Given the description of an element on the screen output the (x, y) to click on. 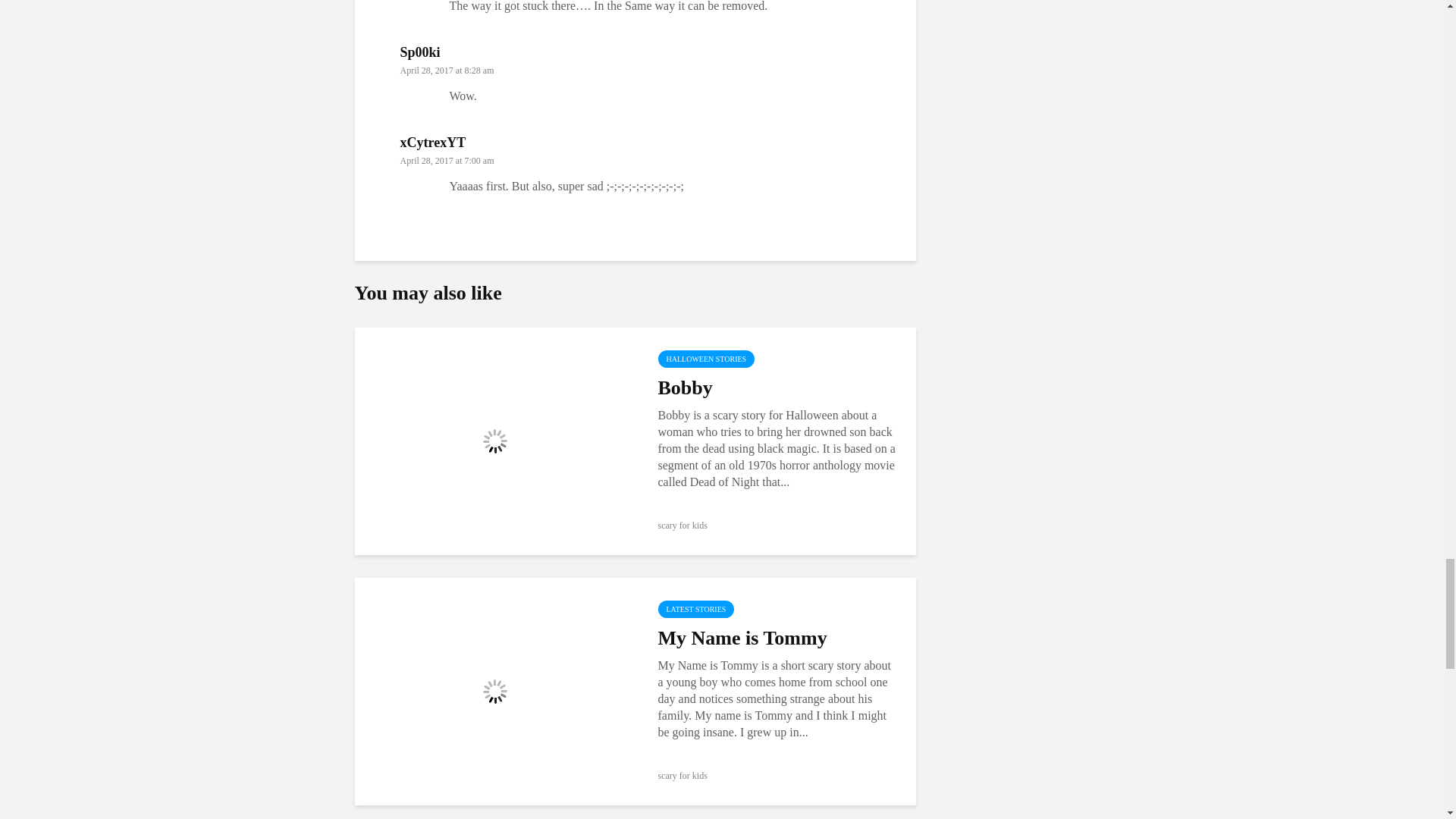
My Name is Tommy (494, 689)
Bobby (494, 440)
